Given the description of an element on the screen output the (x, y) to click on. 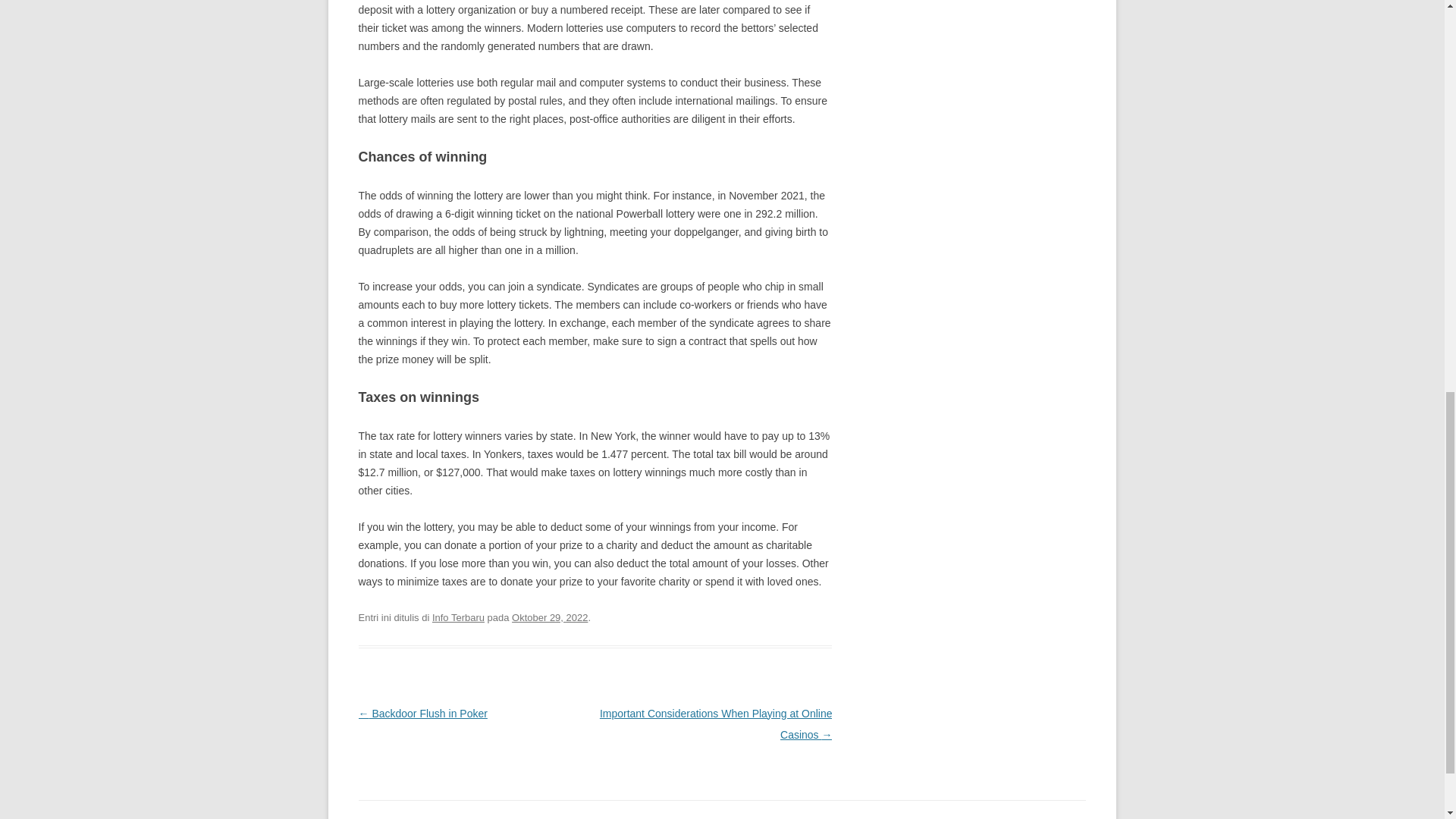
1:31 am (550, 617)
Info Terbaru (458, 617)
Oktober 29, 2022 (550, 617)
